Given the description of an element on the screen output the (x, y) to click on. 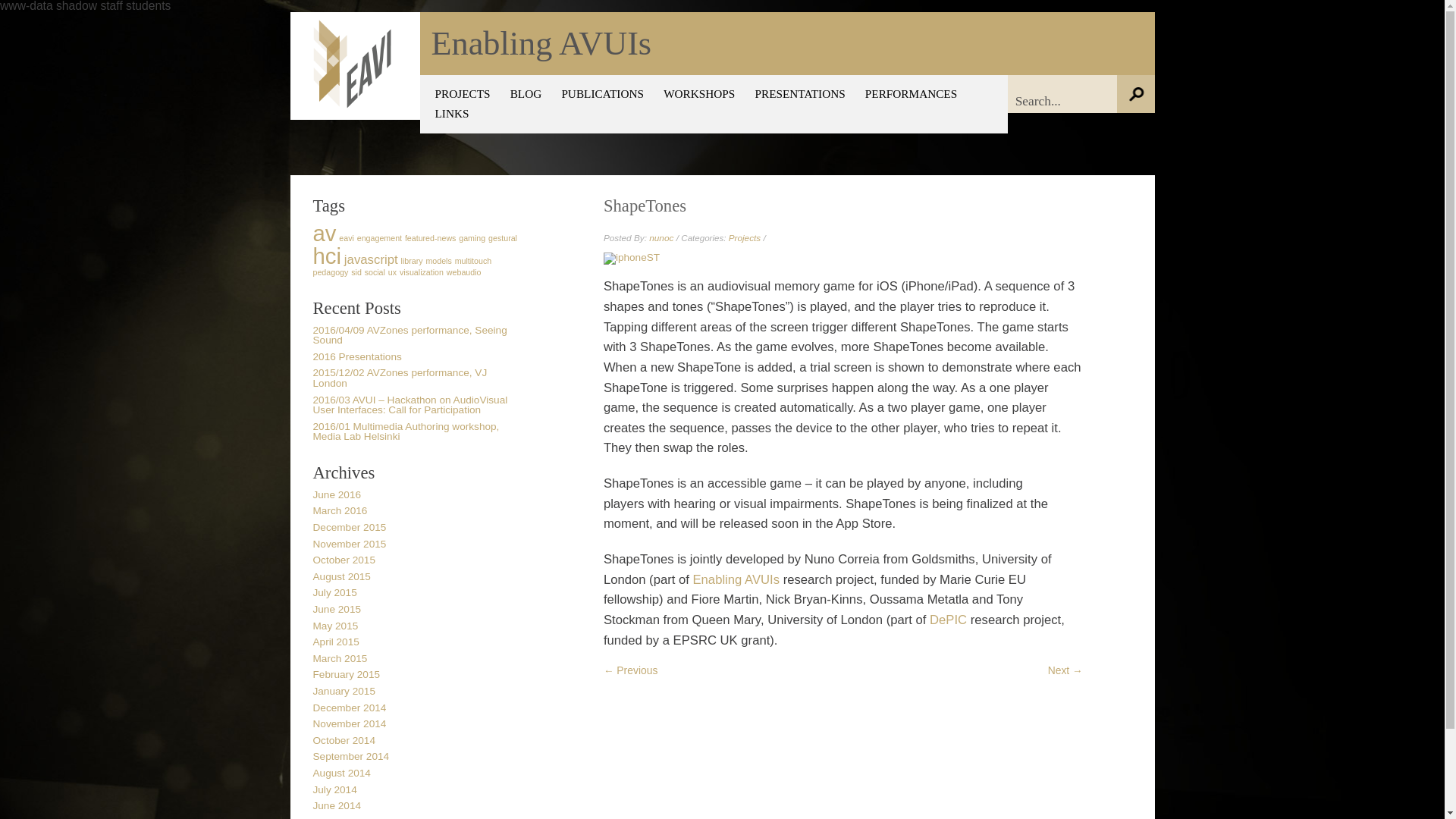
1 topic (430, 237)
engagement (378, 237)
PUBLICATIONS (601, 92)
PROJECTS (462, 92)
October 2015 (343, 559)
models (438, 260)
August 2015 (341, 576)
WORKSHOPS (699, 92)
library (412, 260)
December 2015 (349, 527)
